Given the description of an element on the screen output the (x, y) to click on. 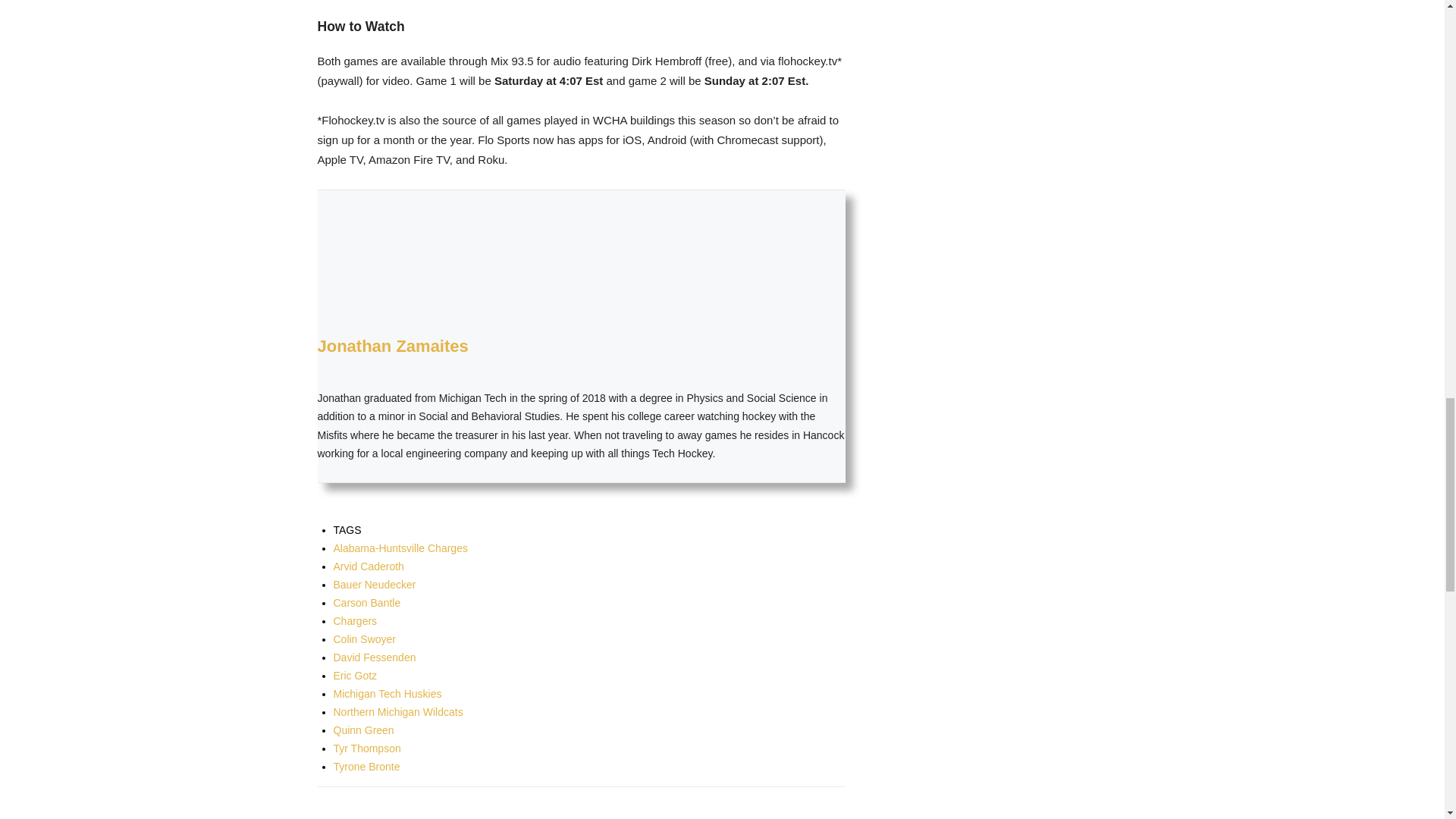
bottomFacebookLike (430, 811)
